Given the description of an element on the screen output the (x, y) to click on. 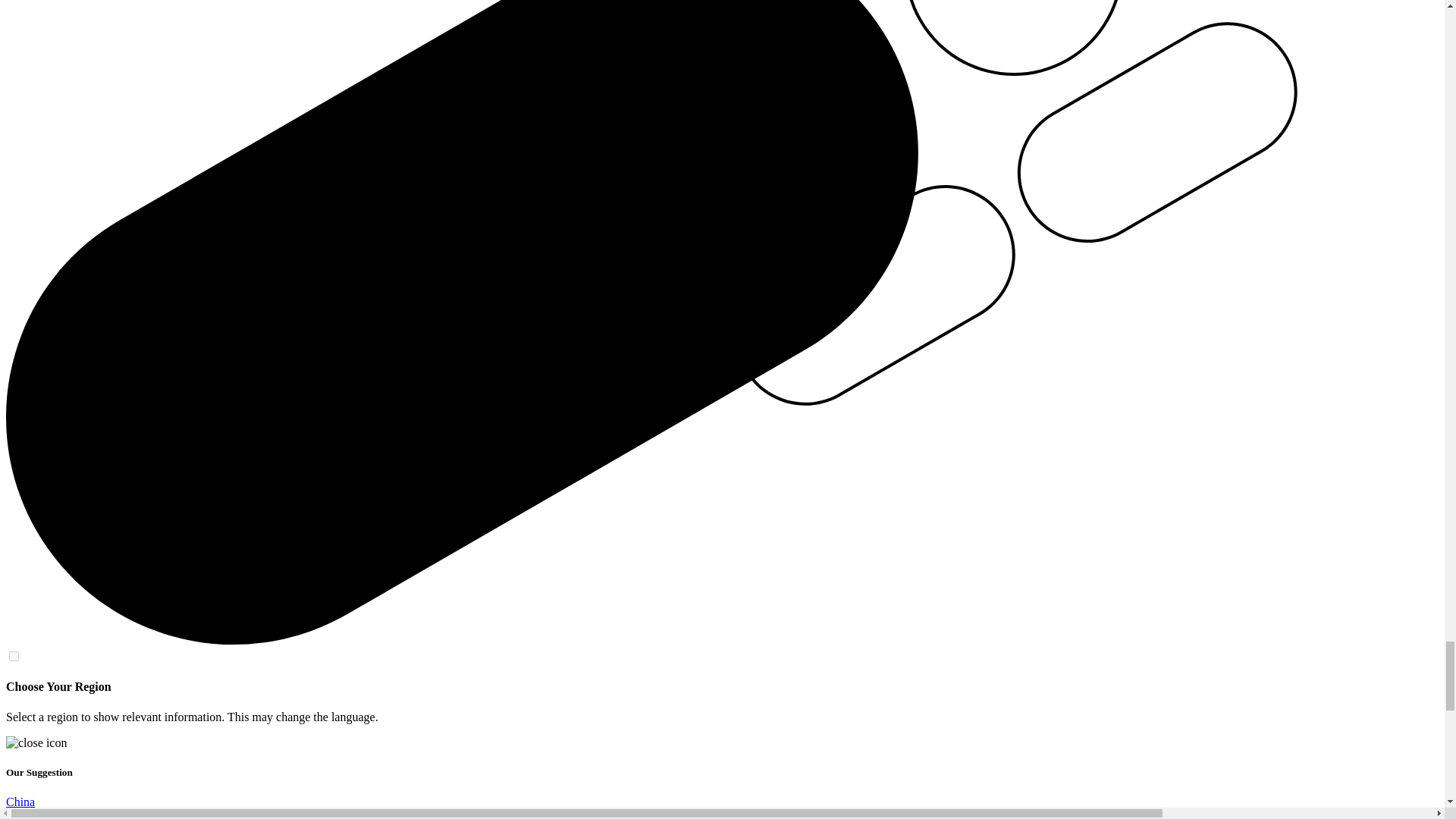
on (13, 655)
